Given the description of an element on the screen output the (x, y) to click on. 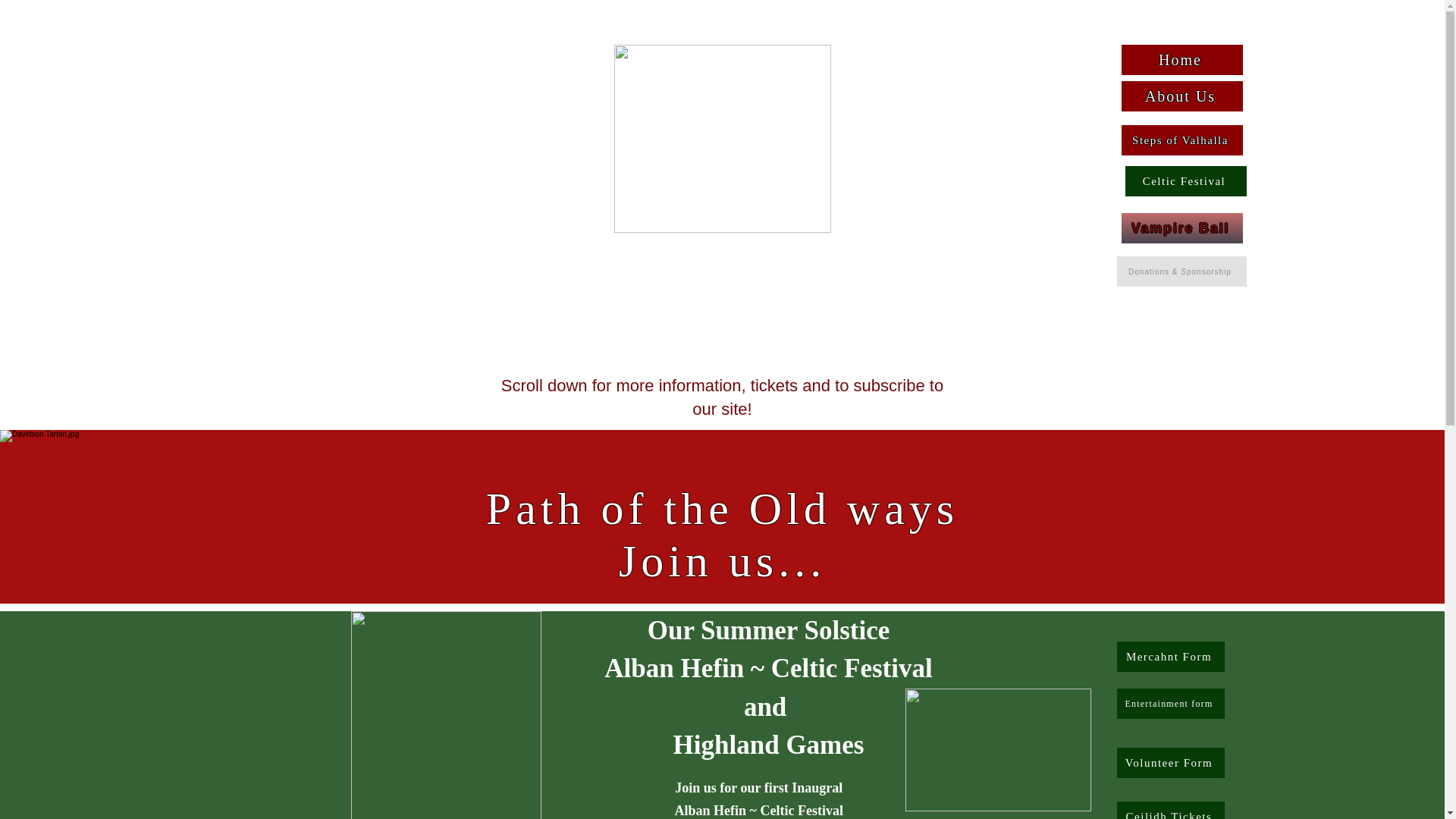
Steps of Valhalla (1181, 140)
Mercahnt Form (1170, 656)
Celtic Festival (1185, 181)
About Us (1181, 96)
Ceilidh Tickets (1170, 810)
Volunteer Form (1170, 762)
Entertainment form (1170, 703)
Castle Scotland (997, 749)
Shield no glow -  trans copy.png (722, 138)
Home (1181, 60)
